Given the description of an element on the screen output the (x, y) to click on. 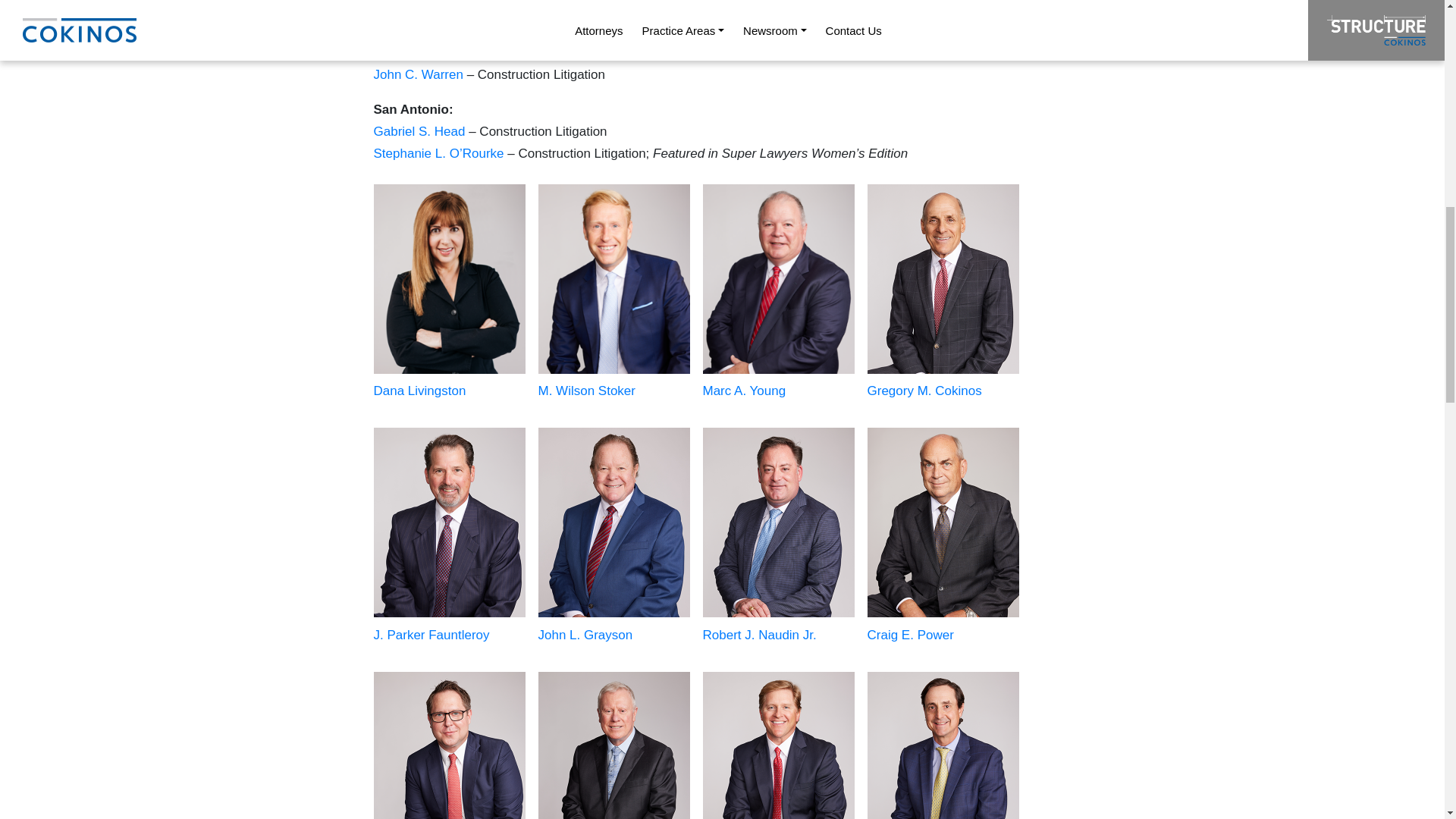
Roger D. Townsend (429, 52)
Russell W. Smith (423, 30)
John C. Warren (417, 74)
Craig E. Power (416, 8)
Gabriel S. Head (420, 131)
